Given the description of an element on the screen output the (x, y) to click on. 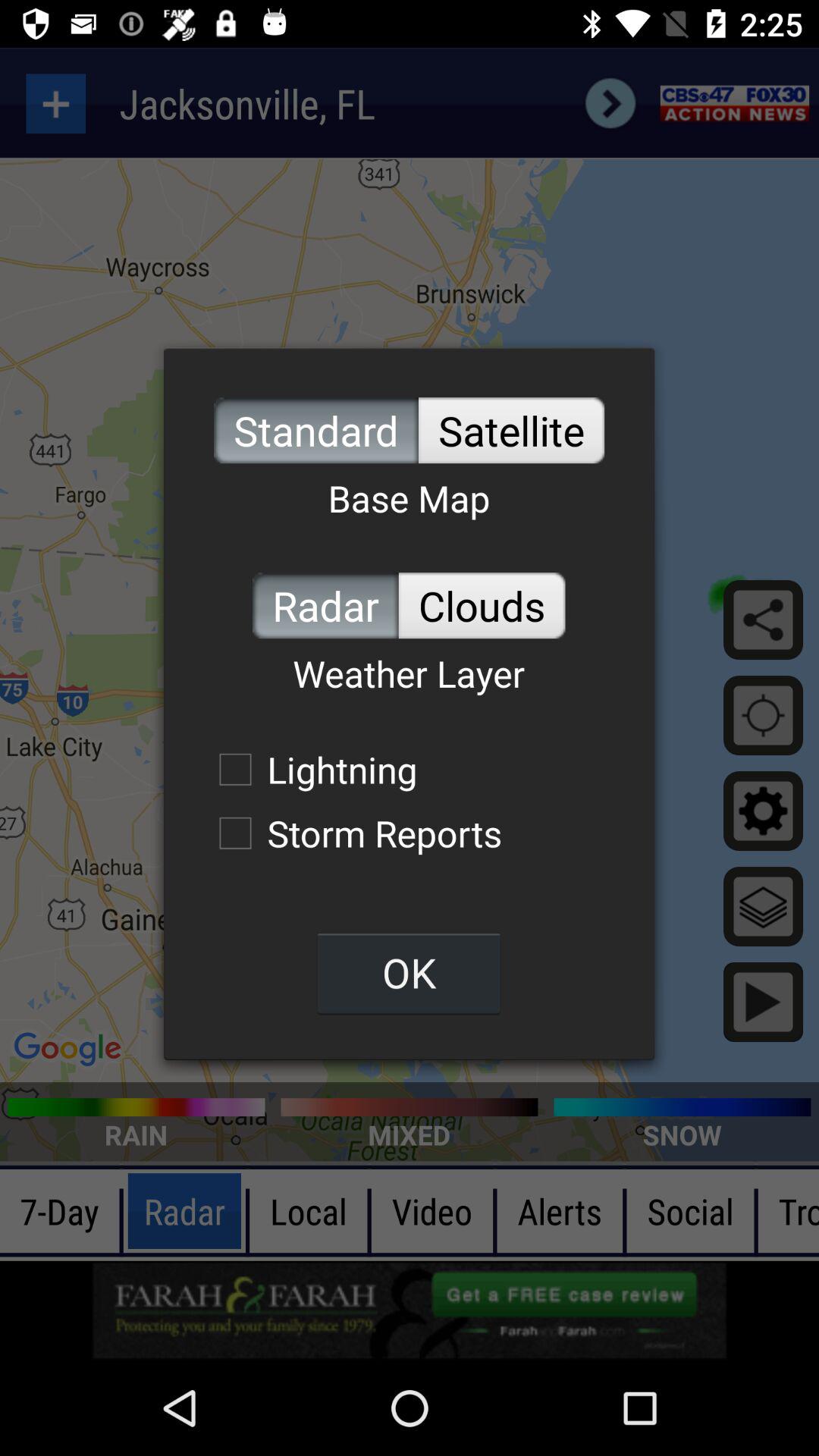
choose item above weather layer item (481, 605)
